Given the description of an element on the screen output the (x, y) to click on. 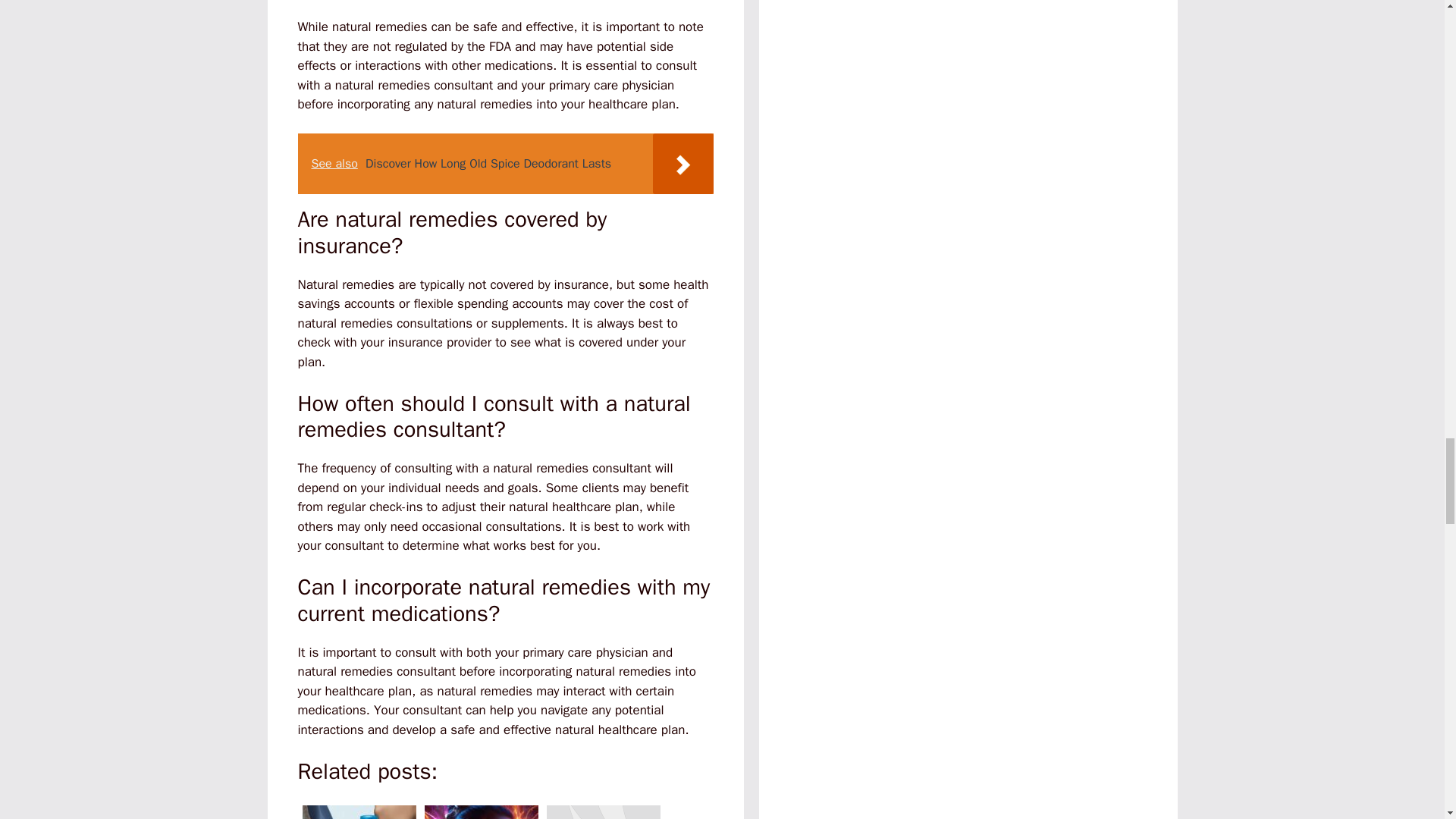
See also  Discover How Long Old Spice Deodorant Lasts (505, 163)
Is Jergens Ultra Healing Good for Tattoos? Find Out Now! (358, 809)
How to Heal in Dead Cells: Mastering Advanced Strategies (481, 809)
What Natural Remedies for Perimenopause? (602, 809)
